Given the description of an element on the screen output the (x, y) to click on. 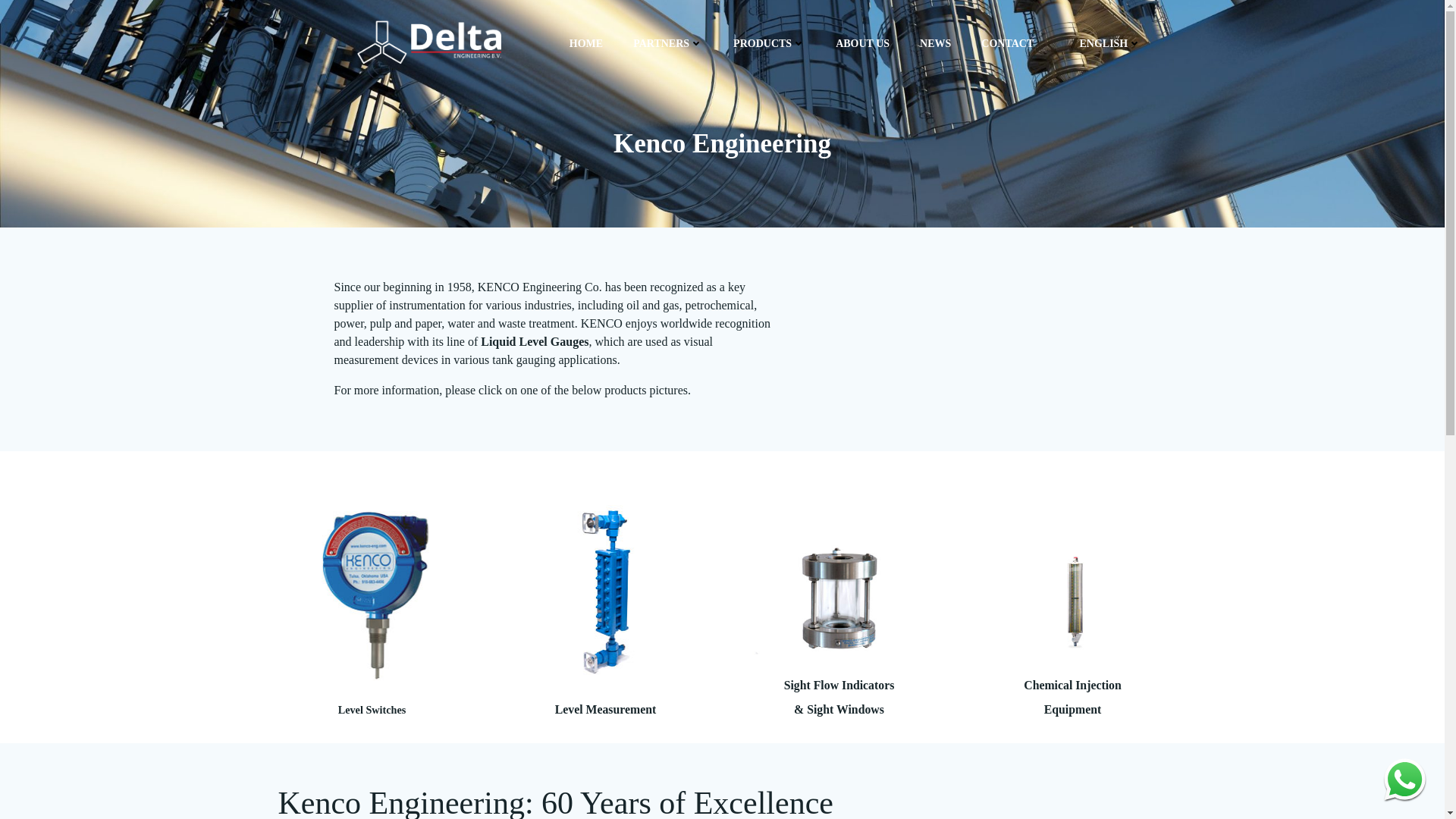
PRODUCTS (769, 43)
HOME (585, 43)
PARTNERS (668, 43)
ENGLISH (1102, 43)
CONTACT (1007, 43)
ABOUT US (862, 43)
NEWS (935, 43)
